Given the description of an element on the screen output the (x, y) to click on. 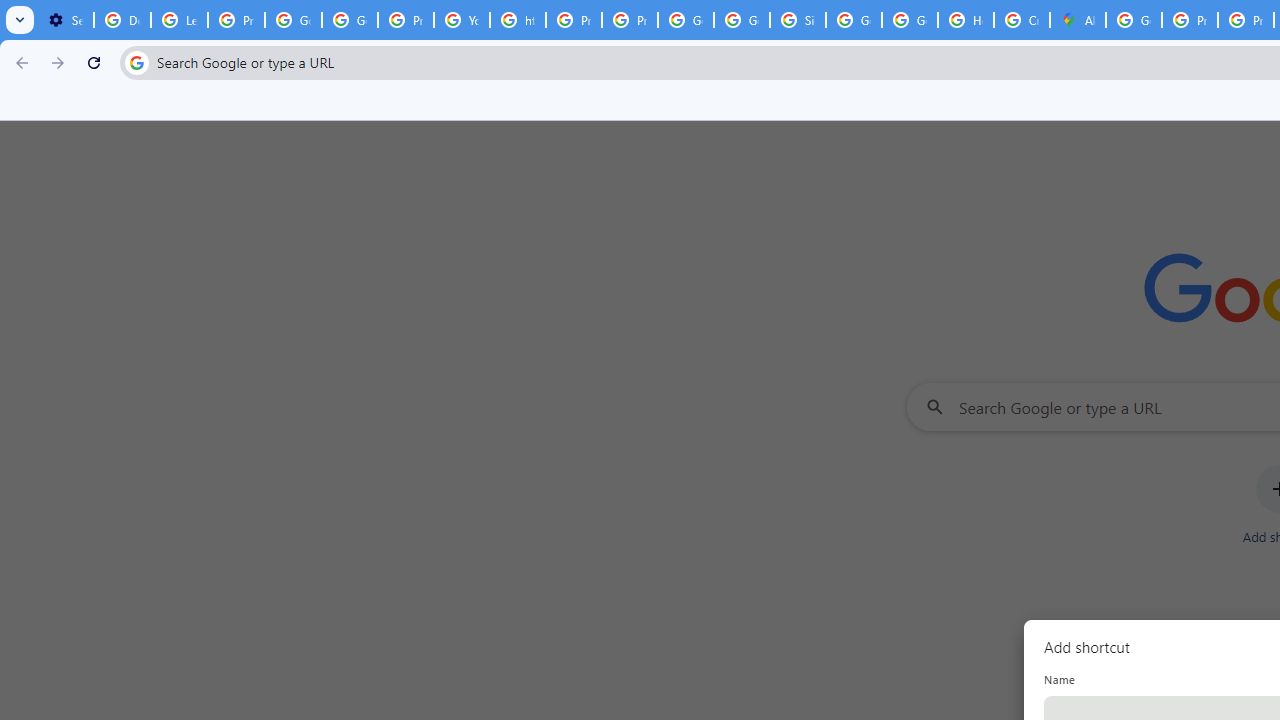
Delete photos & videos - Computer - Google Photos Help (122, 20)
Sign in - Google Accounts (797, 20)
Google Account Help (293, 20)
Privacy Help Center - Policies Help (573, 20)
Settings - On startup (65, 20)
